Given the description of an element on the screen output the (x, y) to click on. 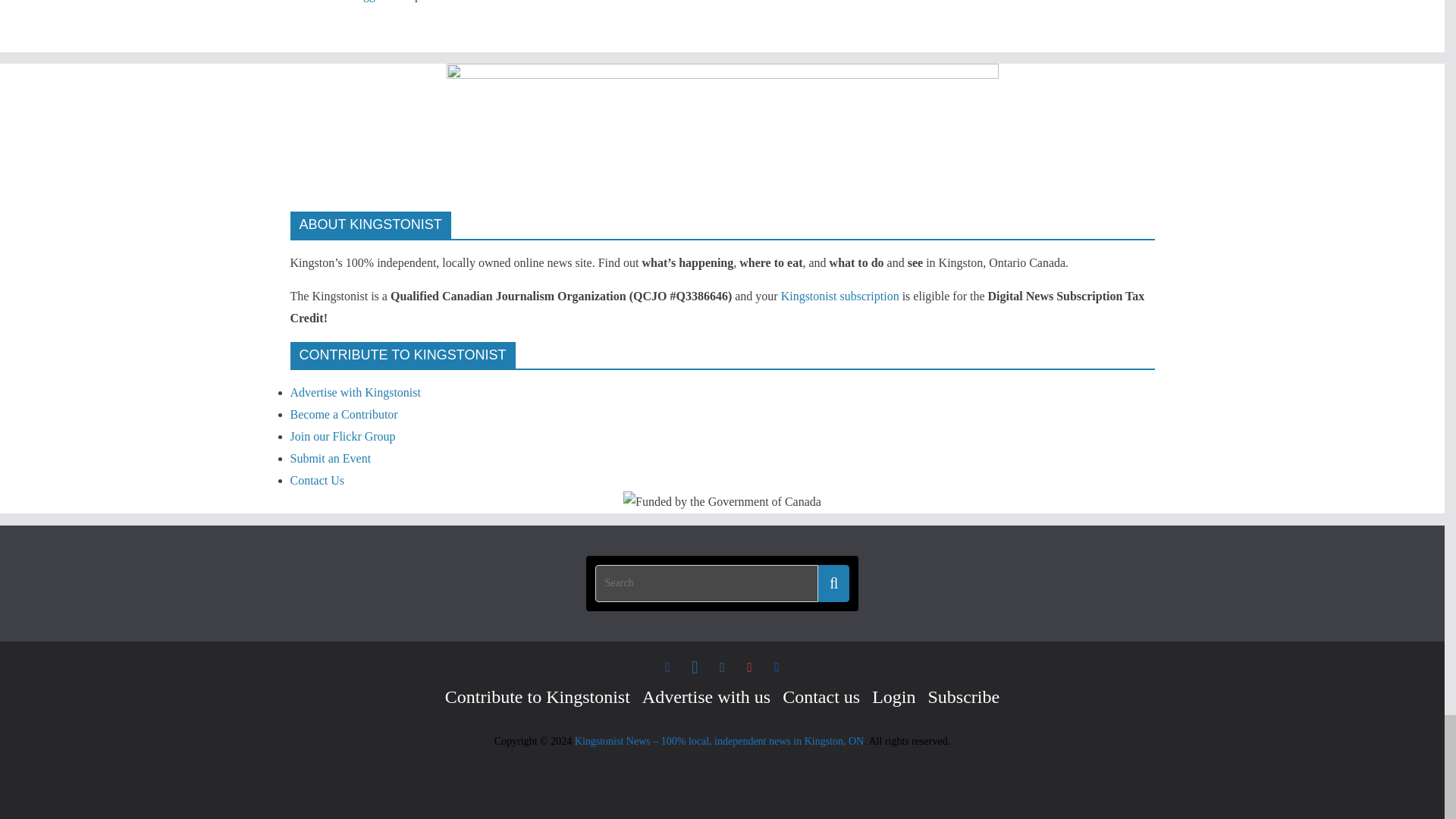
logged in (375, 0)
